Given the description of an element on the screen output the (x, y) to click on. 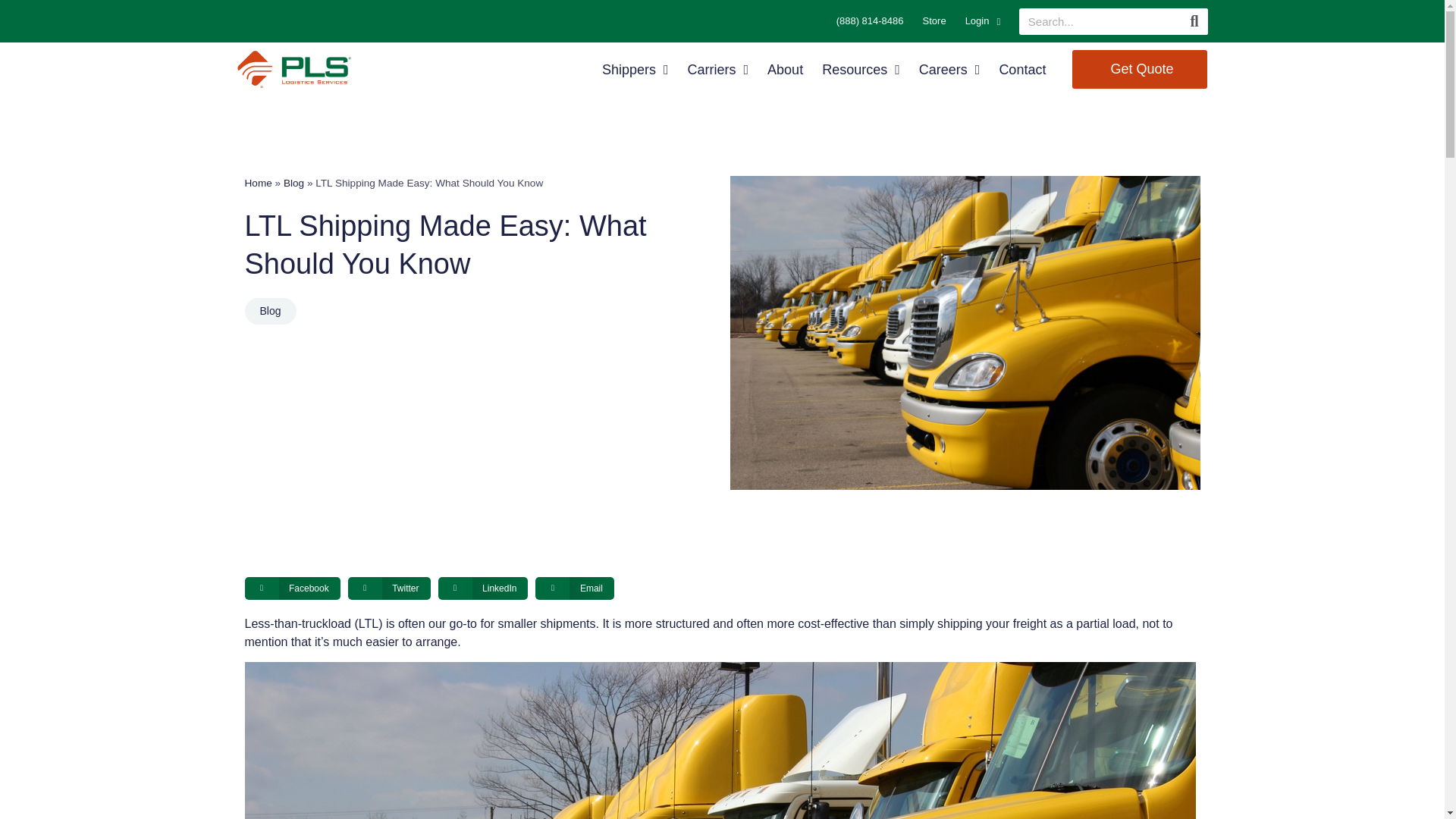
Carriers (717, 68)
About (785, 68)
Careers (948, 68)
Login (983, 21)
Resources (860, 68)
Contact (1021, 68)
Shippers (635, 68)
